Given the description of an element on the screen output the (x, y) to click on. 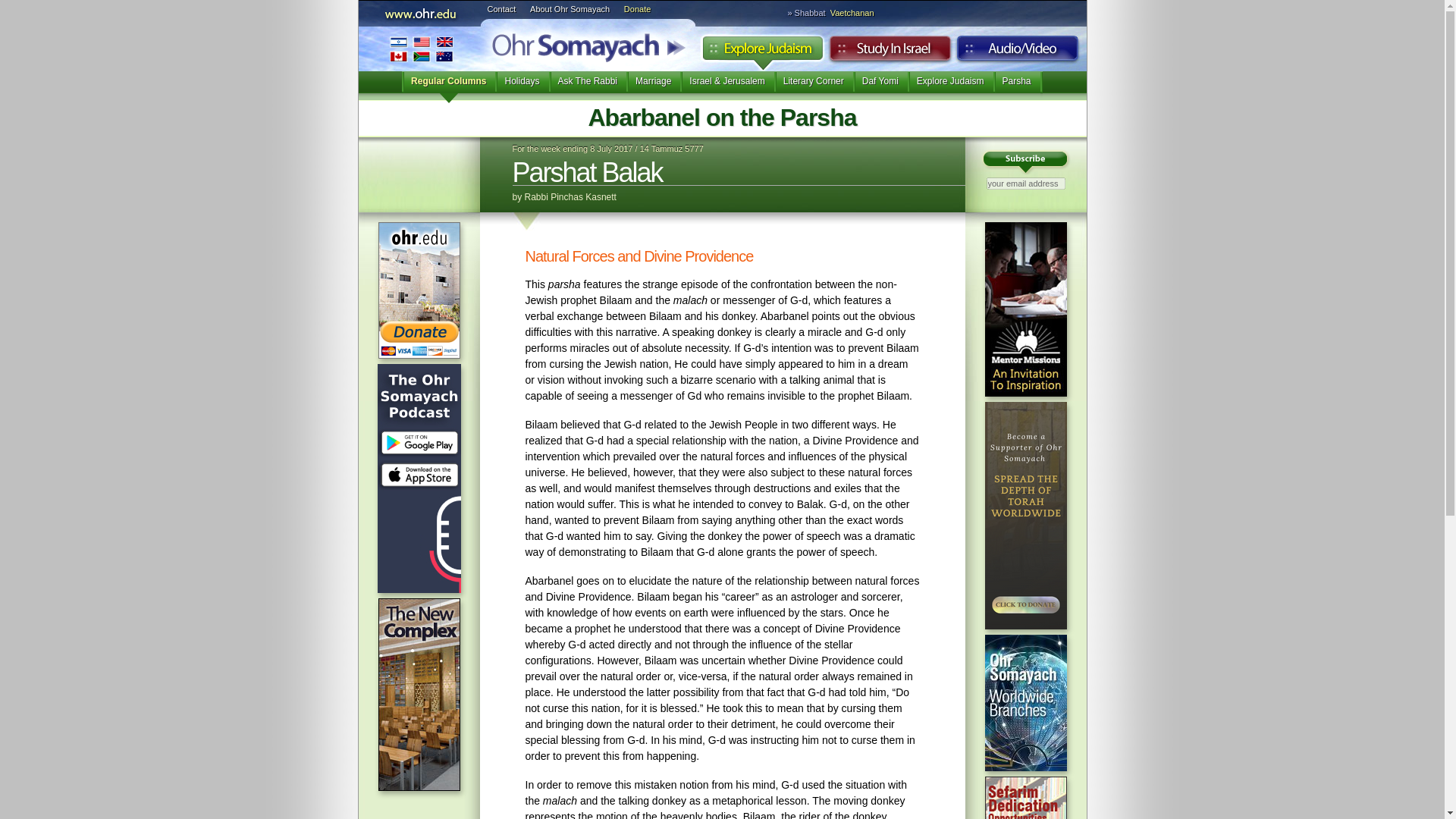
Parsha (1016, 87)
Audio (1017, 52)
International Branches (420, 49)
Literary Corner (813, 87)
Donate (637, 8)
About Ohr Somayach (569, 8)
your email address (1024, 183)
Regular Columns (448, 87)
Ask The Rabbi (587, 87)
Marriage (652, 87)
